Given the description of an element on the screen output the (x, y) to click on. 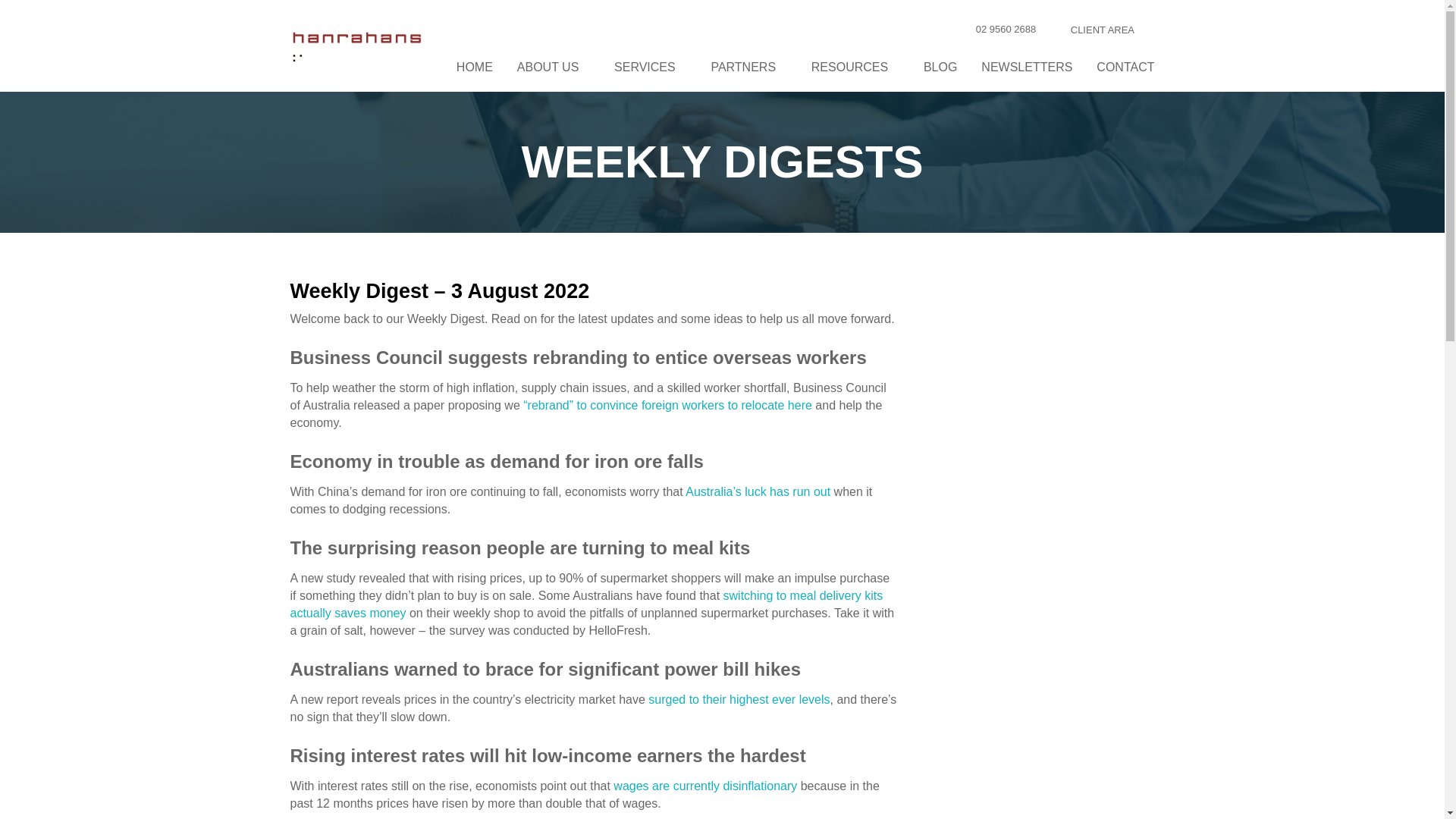
surged to their highest ever levels (738, 698)
Partners (747, 67)
BLOG (940, 67)
ABOUT US  (553, 67)
switching to meal delivery kits actually saves money (585, 603)
RESOURCES  (855, 67)
SERVICES  (650, 67)
CLIENT AREA (1107, 30)
Home (474, 67)
wages are currently disinflationary (704, 785)
About us (553, 67)
02 9560 2688 (992, 29)
NEWSLETTERS (1026, 67)
Services (650, 67)
PARTNERS  (747, 67)
